Given the description of an element on the screen output the (x, y) to click on. 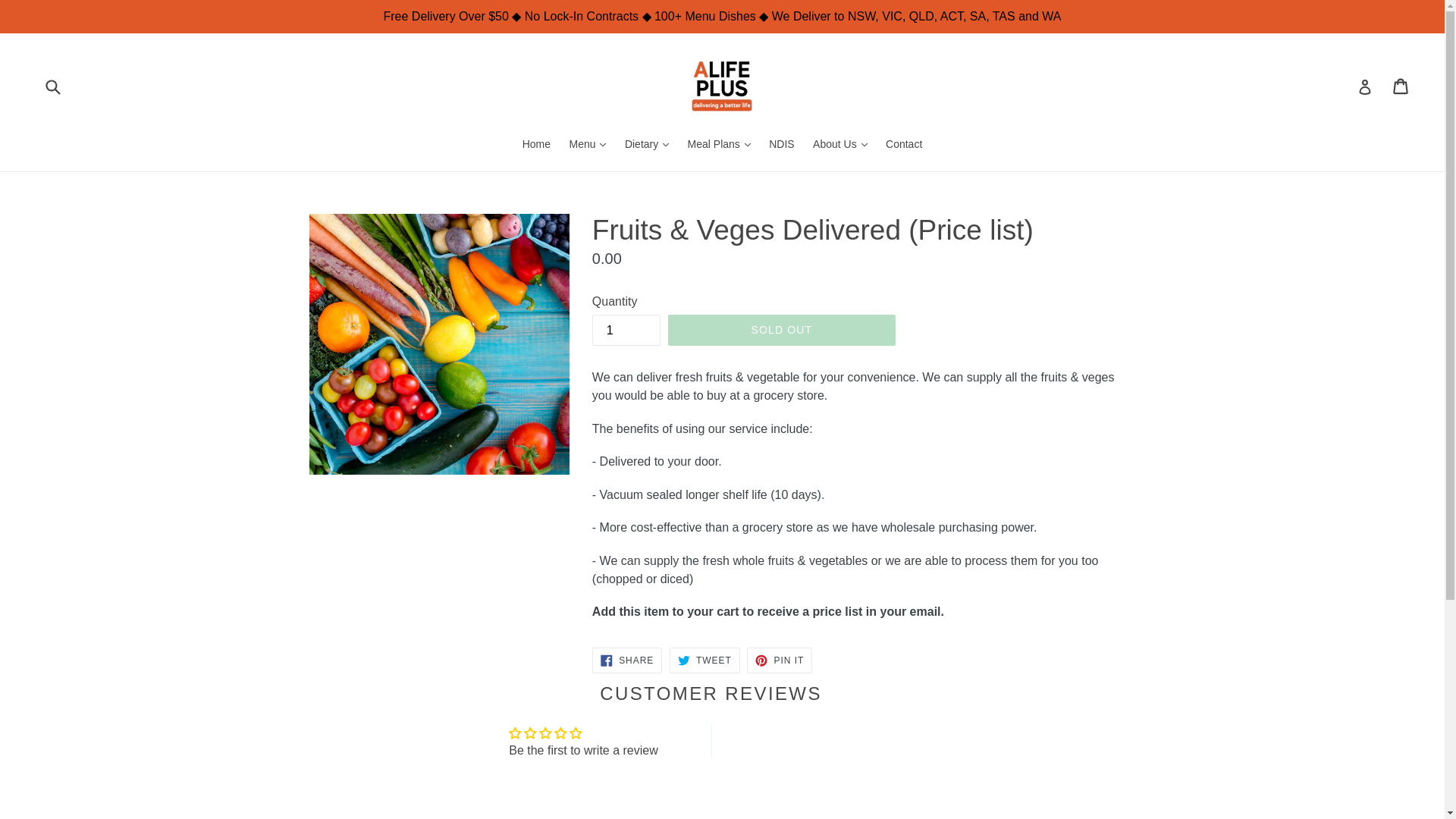
Log in (1364, 86)
Pin on Pinterest (1401, 86)
1 (779, 660)
Tweet on Twitter (626, 329)
Share on Facebook (704, 660)
Submit (627, 660)
